Given the description of an element on the screen output the (x, y) to click on. 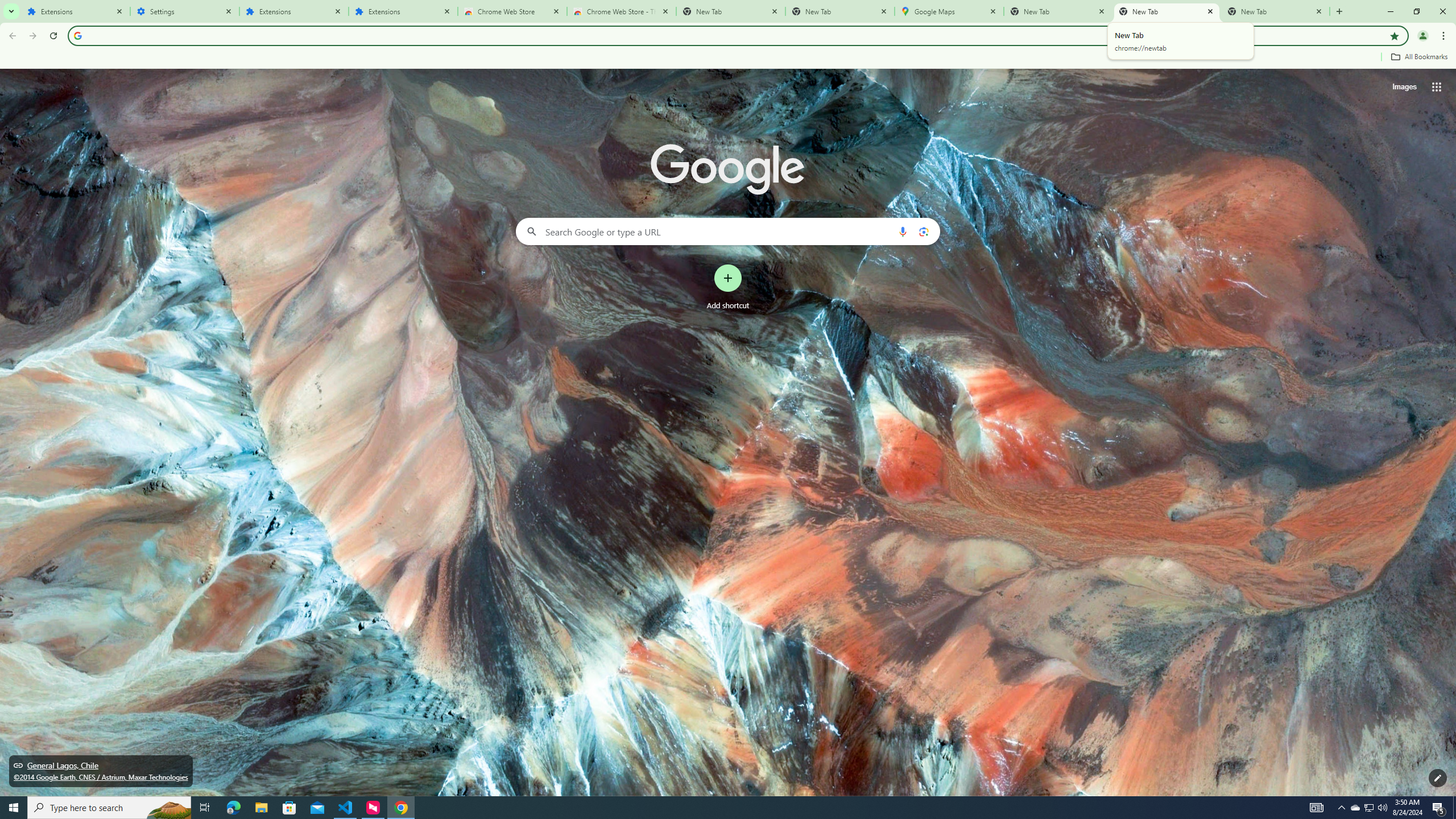
New Tab (1275, 11)
Extensions (403, 11)
Settings (184, 11)
